Given the description of an element on the screen output the (x, y) to click on. 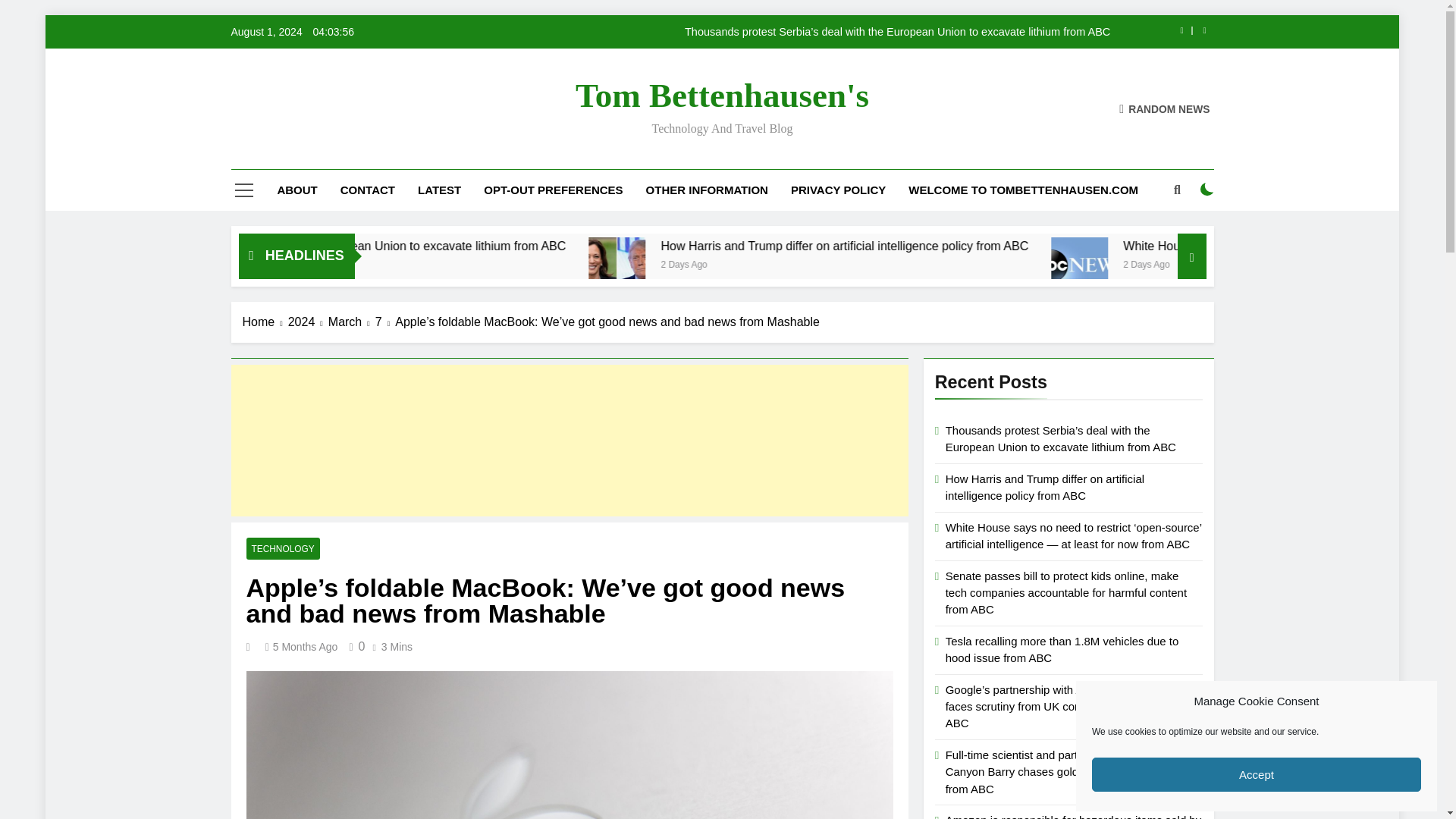
CONTACT (367, 189)
ABOUT (296, 189)
on (1206, 189)
Accept (1256, 774)
PRIVACY POLICY (837, 189)
OTHER INFORMATION (706, 189)
LATEST (438, 189)
WELCOME TO TOMBETTENHAUSEN.COM (1023, 189)
Tom Bettenhausen'S (722, 95)
OPT-OUT PREFERENCES (552, 189)
RANDOM NEWS (1164, 107)
